Given the description of an element on the screen output the (x, y) to click on. 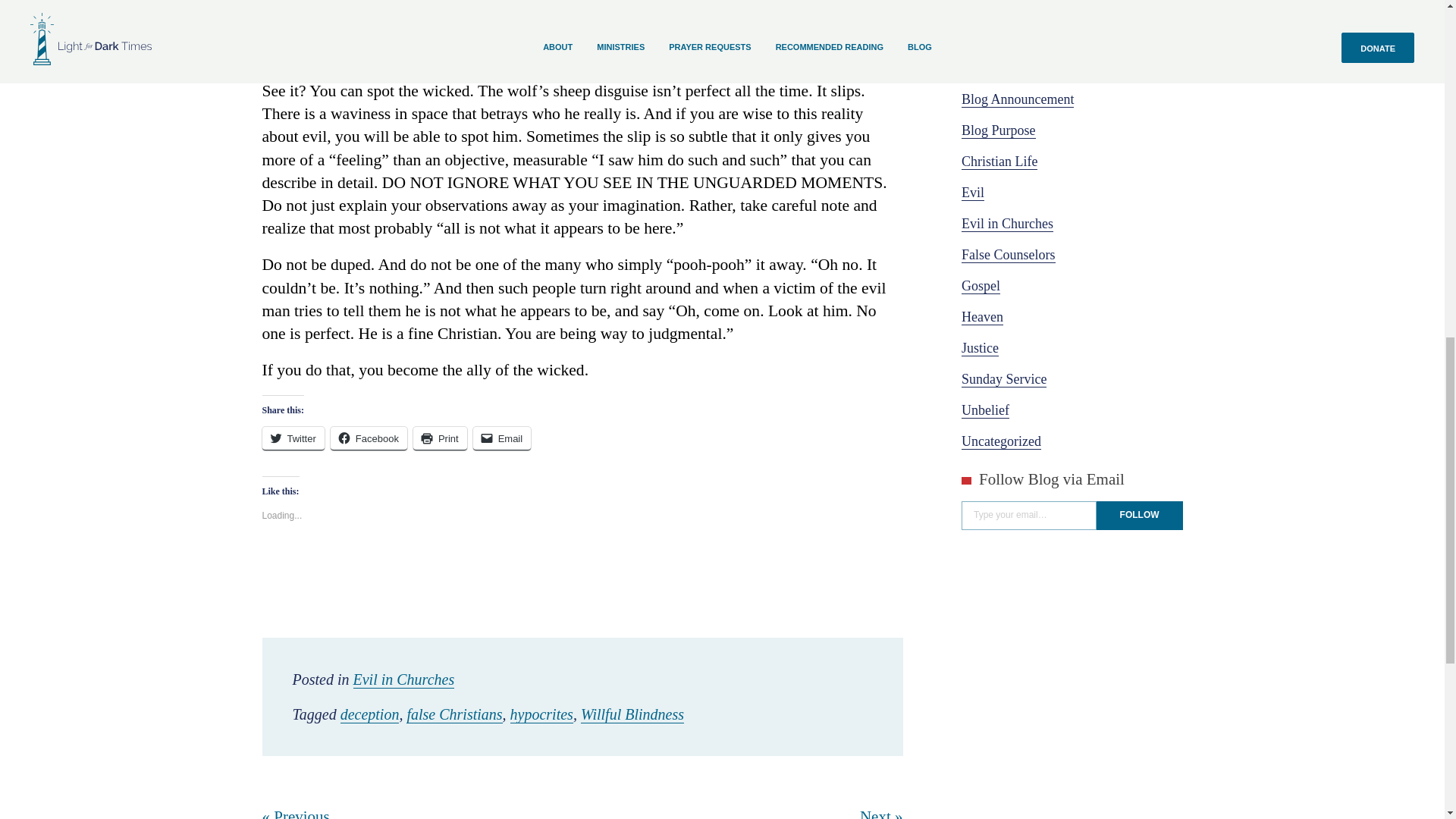
Click to share on Twitter (293, 438)
Christian Life (998, 161)
Email (502, 438)
Evil in Churches (1006, 223)
false Christians (454, 714)
Click to print (440, 438)
Facebook (368, 438)
Evil (972, 192)
Willful Blindness (632, 714)
Please fill in this field. (1028, 515)
Blog Announcement (1017, 99)
deception (369, 714)
hypocrites (542, 714)
Click to share on Facebook (368, 438)
Blog Purpose (997, 130)
